Given the description of an element on the screen output the (x, y) to click on. 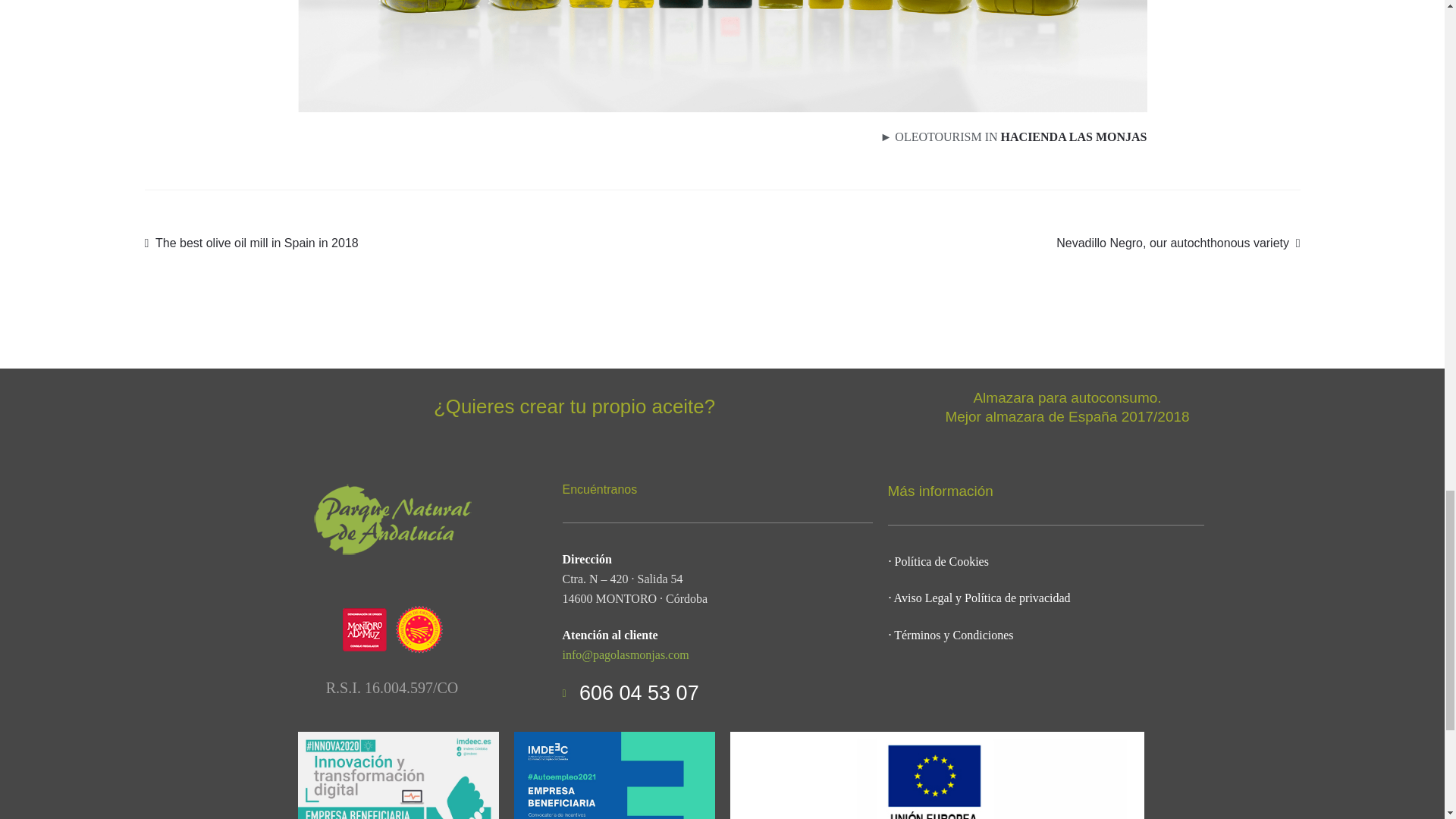
The best olive oil mill in Spain in 2018 (251, 243)
Nevadillo Negro, our autochthonous variety (1178, 243)
606 04 53 07 (717, 693)
HACIENDA LAS MONJAS (1074, 136)
